Given the description of an element on the screen output the (x, y) to click on. 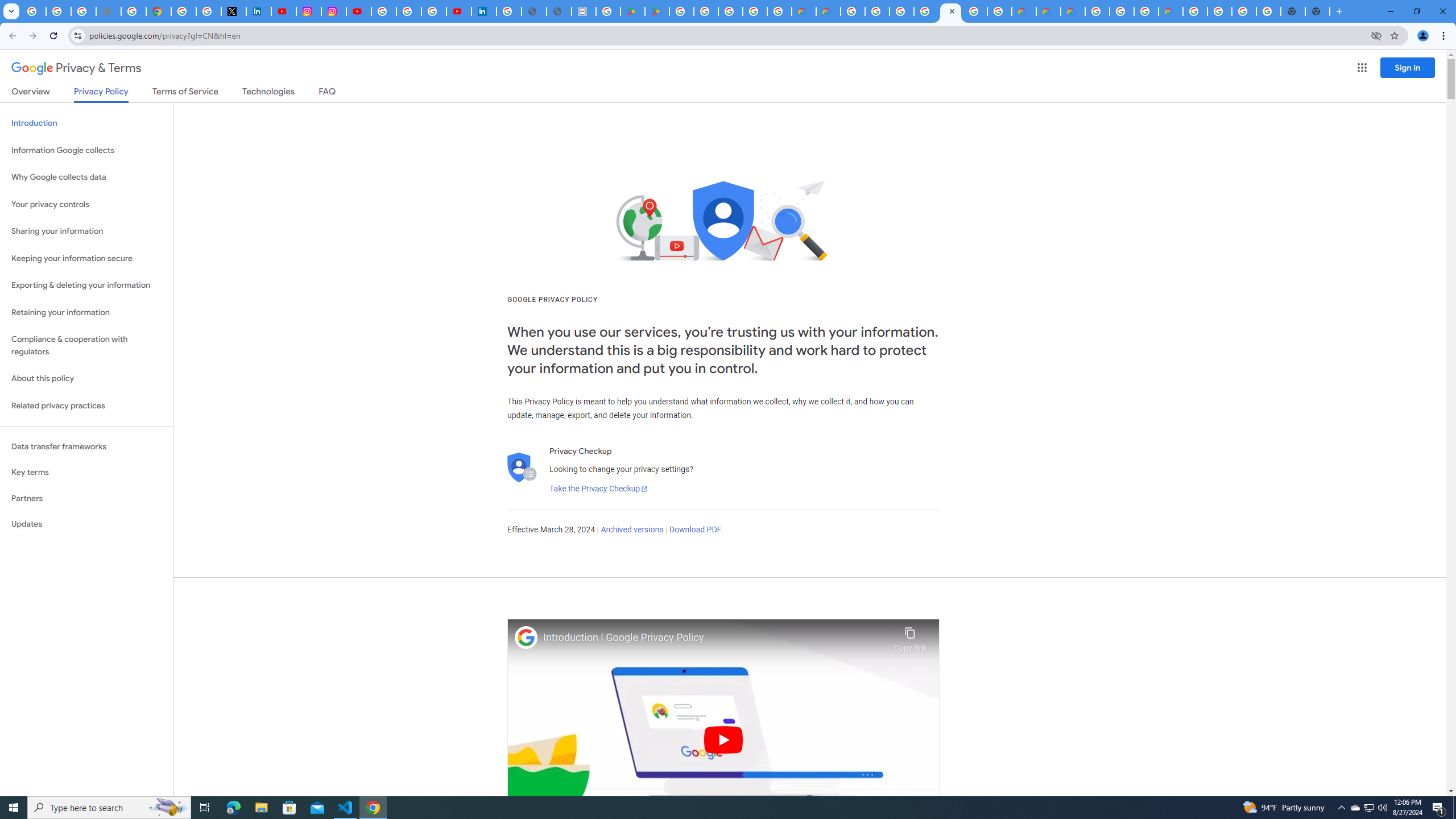
Browse Chrome as a guest - Computer - Google Chrome Help (1145, 11)
LinkedIn Privacy Policy (258, 11)
Privacy Policy (100, 94)
Play (723, 739)
Exporting & deleting your information (86, 284)
Restore (1416, 11)
Overview (30, 93)
Download PDF (695, 529)
Related privacy practices (86, 405)
Privacy & Terms (76, 68)
Android Apps on Google Play (632, 11)
Sign in - Google Accounts (900, 11)
